Given the description of an element on the screen output the (x, y) to click on. 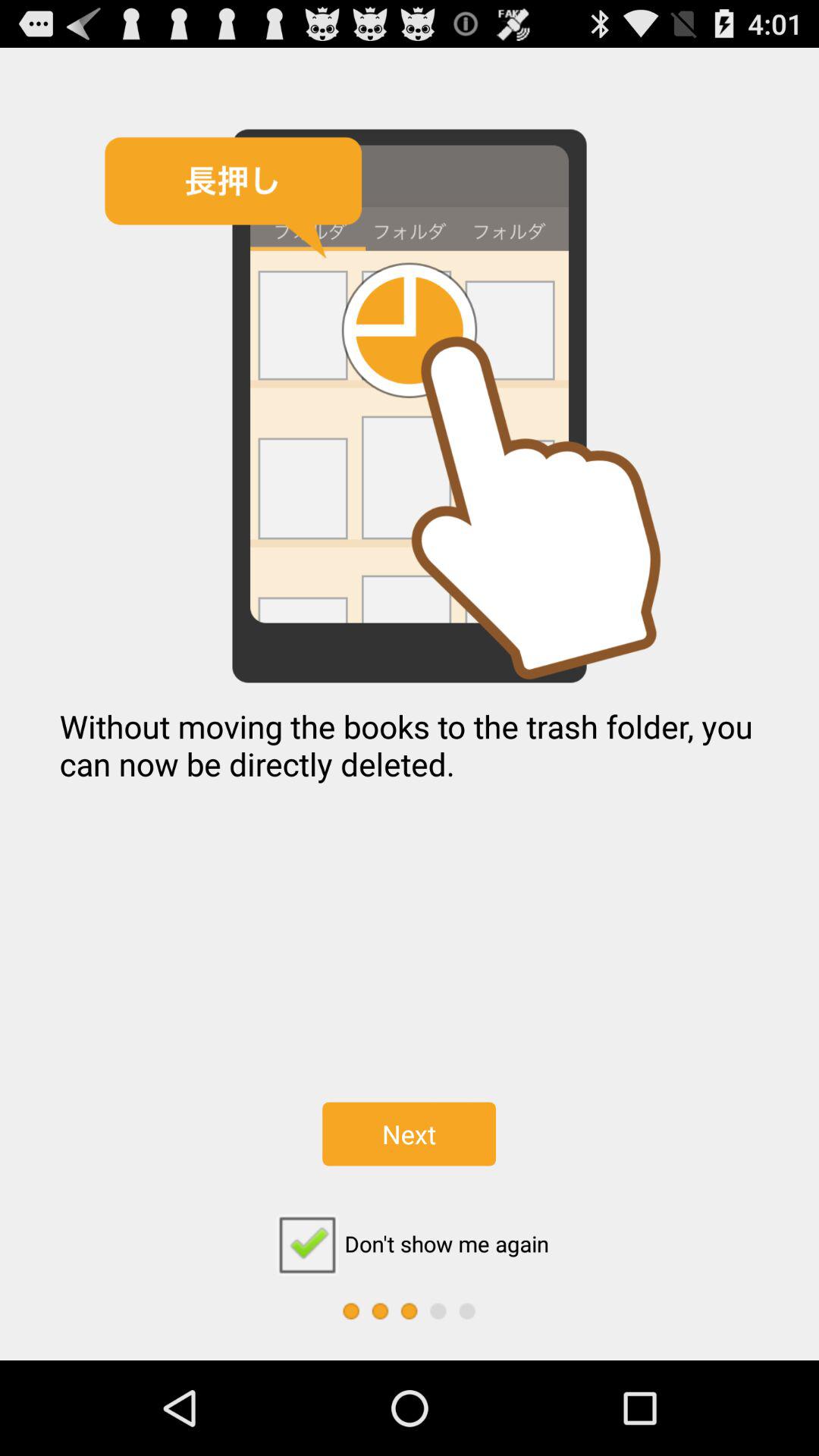
swipe until the don t show icon (409, 1243)
